Given the description of an element on the screen output the (x, y) to click on. 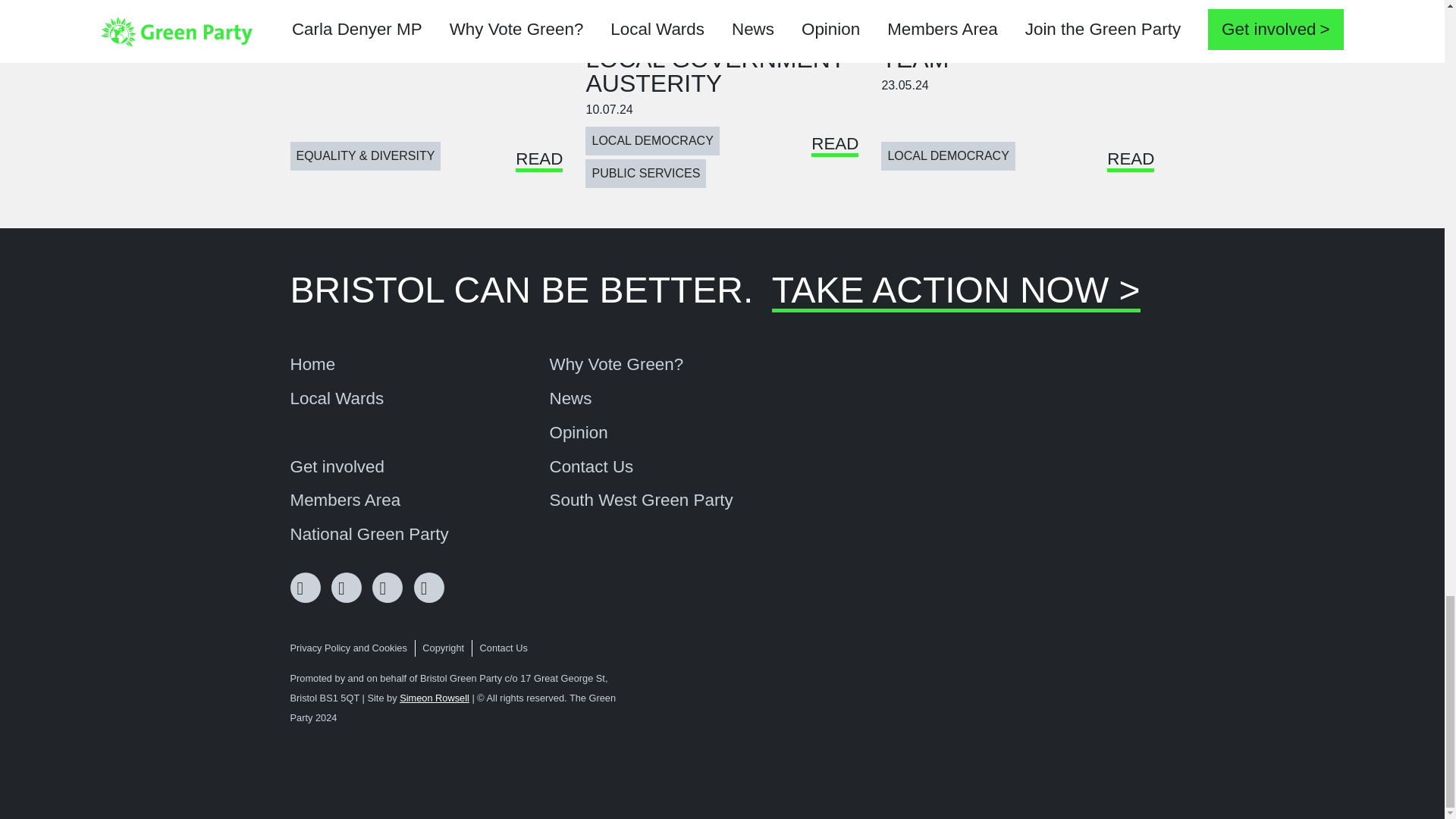
Home (311, 364)
Local Wards (336, 398)
Opinion (577, 433)
LOCAL DEMOCRACY (652, 140)
PUBLIC SERVICES (645, 173)
News (569, 398)
Get involved (336, 466)
LOCAL DEMOCRACY (947, 155)
Green Party Logo (1097, 725)
Why Vote Green? (615, 364)
